Given the description of an element on the screen output the (x, y) to click on. 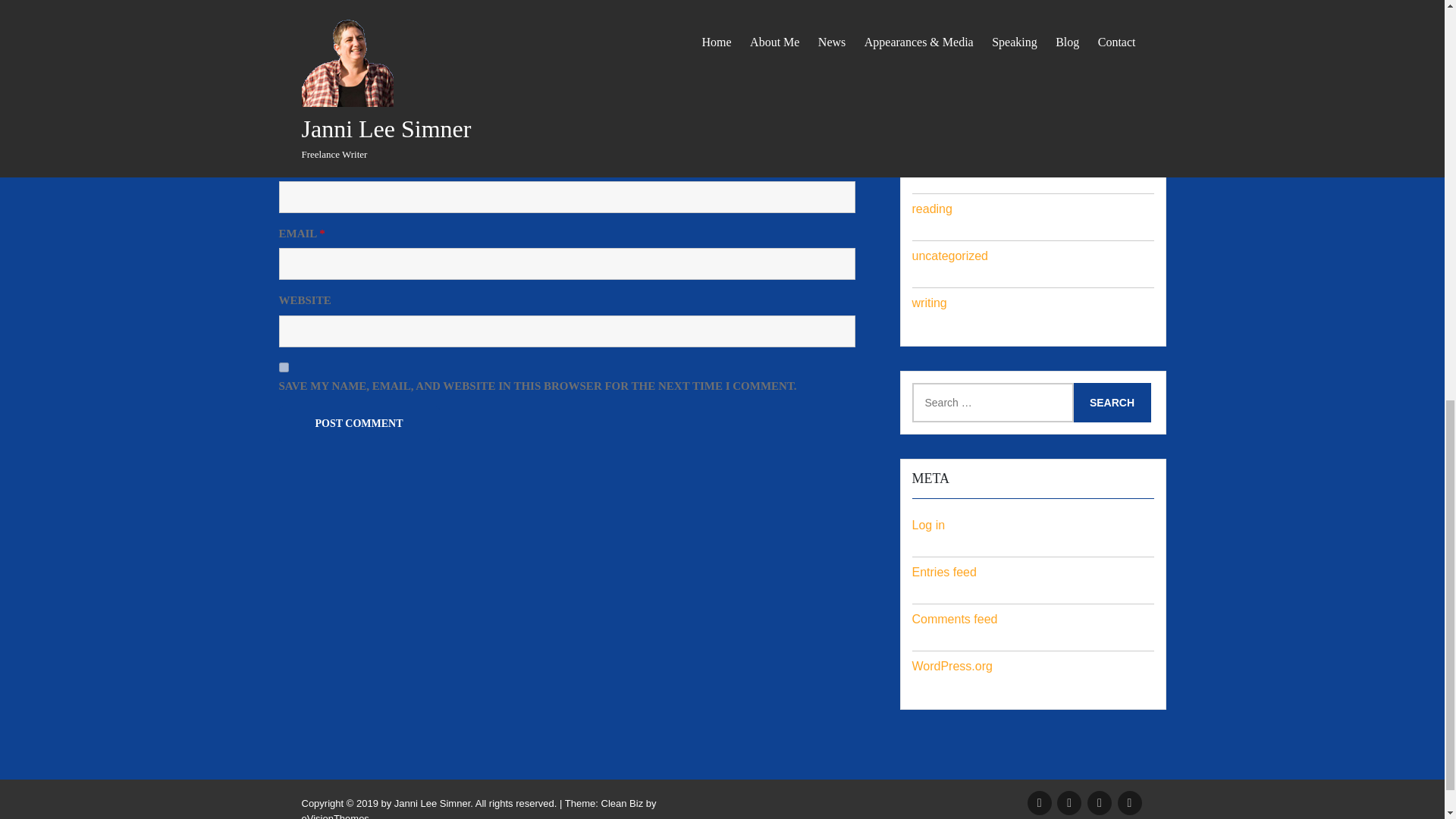
general (931, 114)
reading (931, 208)
Search (1112, 402)
Post Comment (359, 424)
news (925, 161)
uncategorized (949, 255)
Post Comment (359, 424)
Search (1112, 402)
yes (283, 367)
writing (928, 302)
Search (1112, 402)
